Given the description of an element on the screen output the (x, y) to click on. 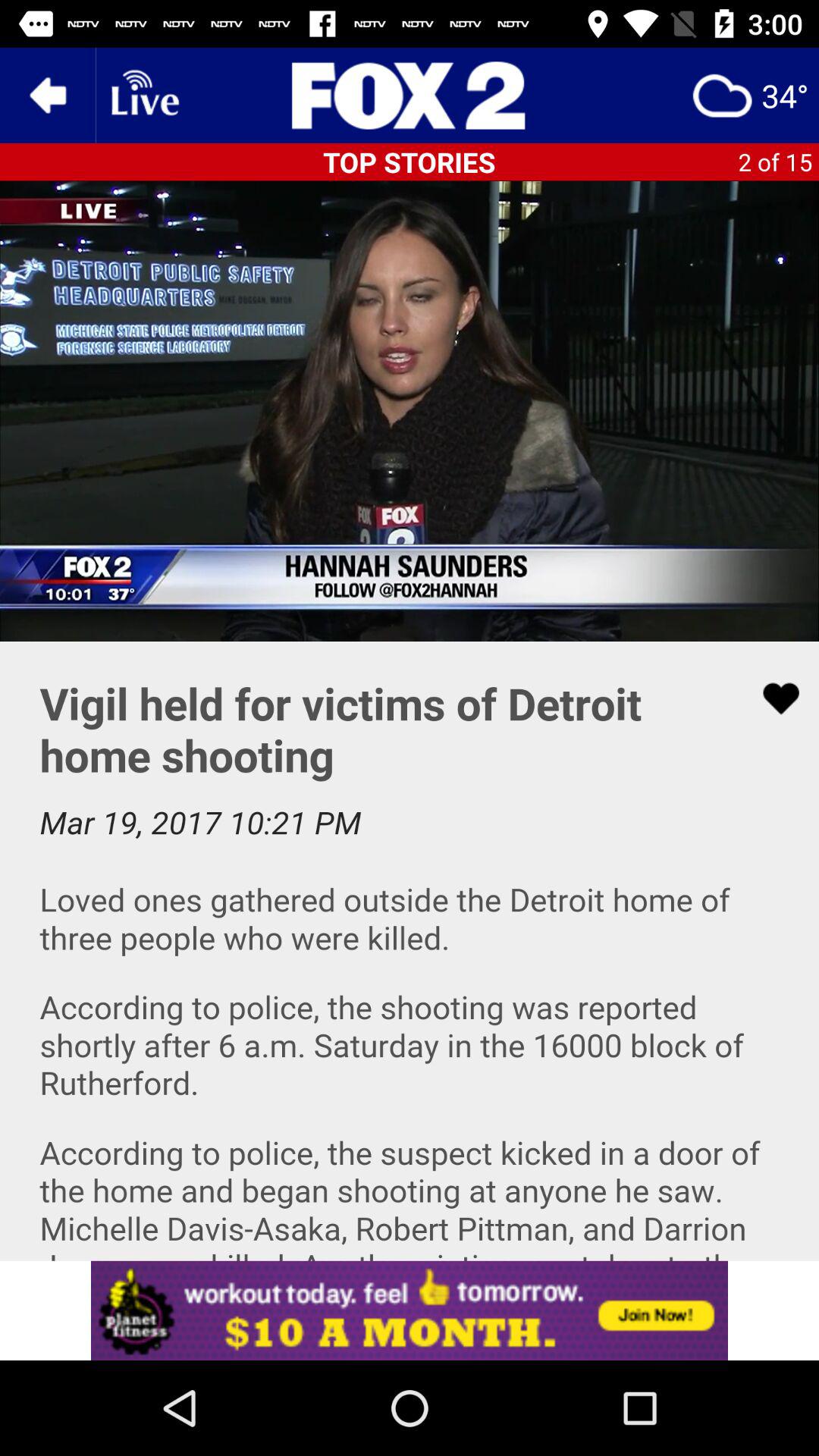
click the heart (771, 698)
